Given the description of an element on the screen output the (x, y) to click on. 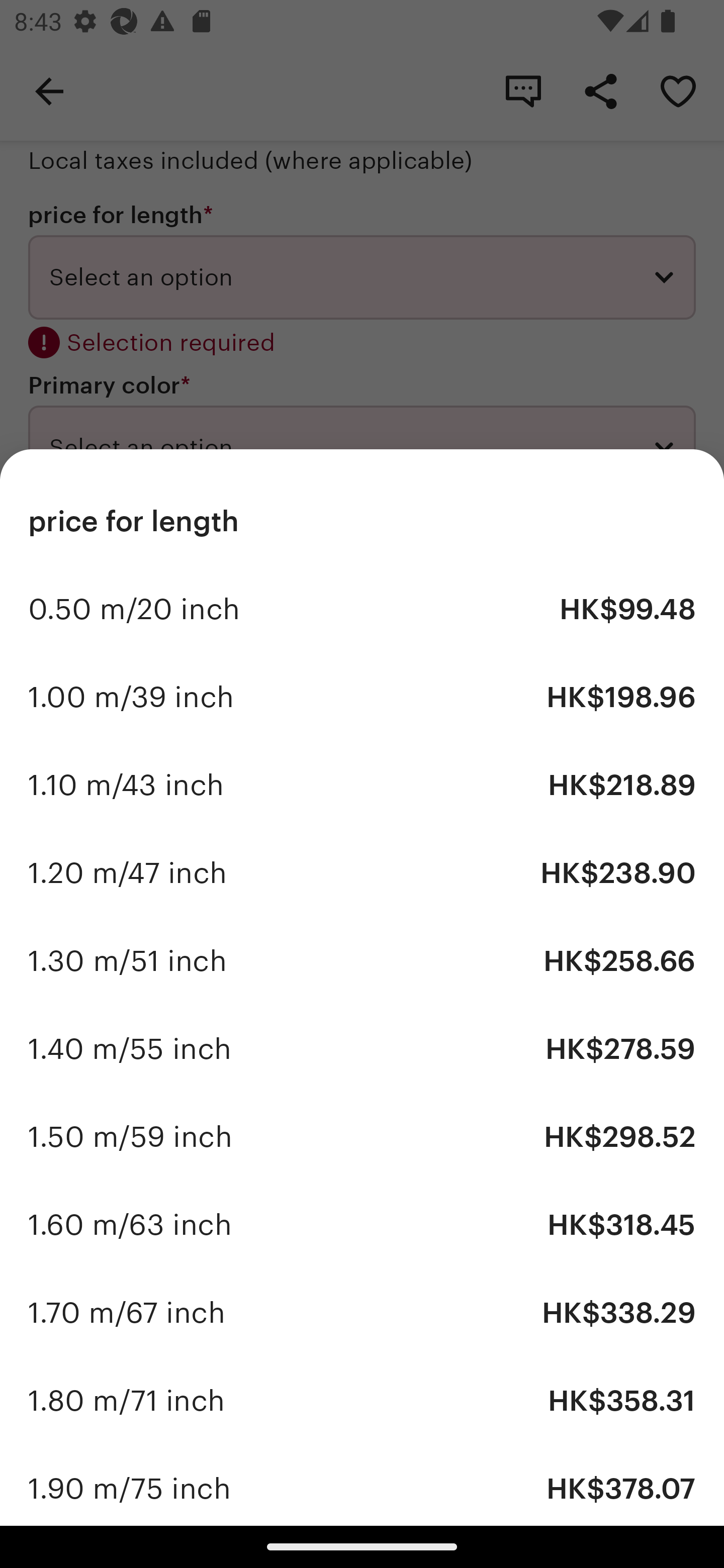
0.50 m/20 inch HK$99.48 (362, 609)
1.00 m/39 inch HK$198.96 (362, 697)
1.10 m/43 inch HK$218.89 (362, 785)
1.20 m/47 inch HK$238.90 (362, 873)
1.30 m/51 inch HK$258.66 (362, 961)
1.40 m/55 inch HK$278.59 (362, 1048)
1.50 m/59 inch HK$298.52 (362, 1136)
1.60 m/63 inch HK$318.45 (362, 1224)
1.70 m/67 inch HK$338.29 (362, 1312)
1.80 m/71 inch HK$358.31 (362, 1400)
1.90 m/75 inch HK$378.07 (362, 1484)
